Given the description of an element on the screen output the (x, y) to click on. 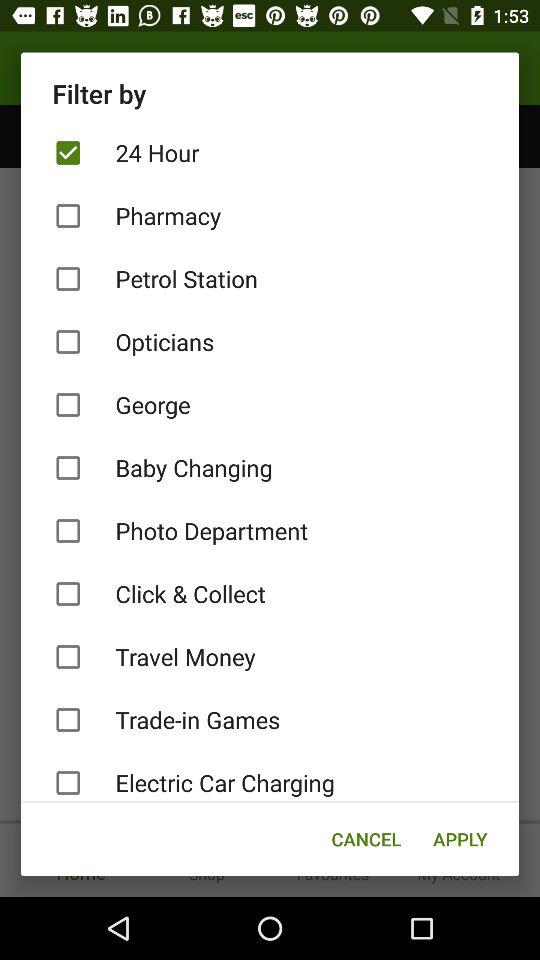
choose icon below the 24 hour icon (270, 215)
